Given the description of an element on the screen output the (x, y) to click on. 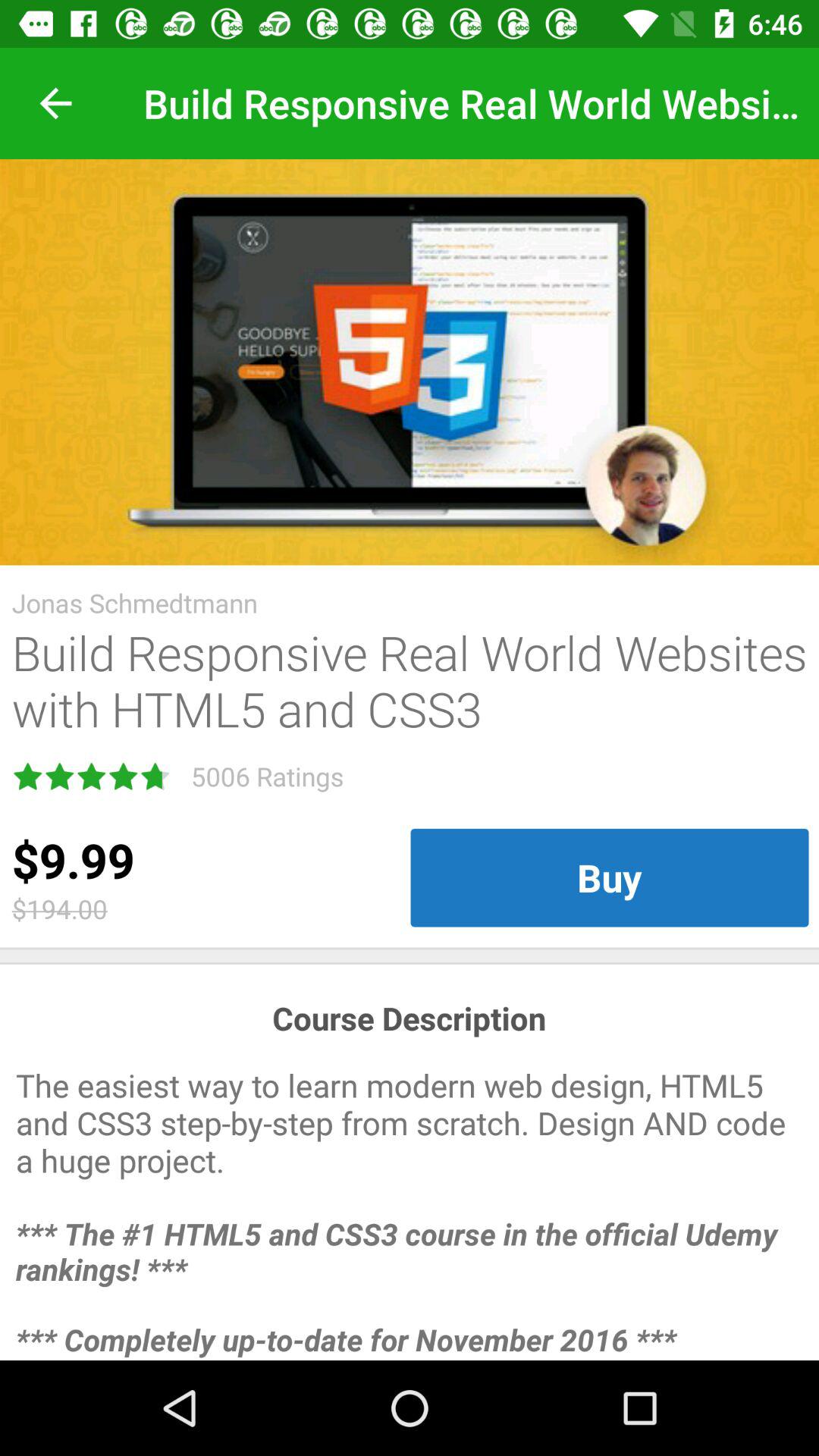
press the buy (609, 877)
